Given the description of an element on the screen output the (x, y) to click on. 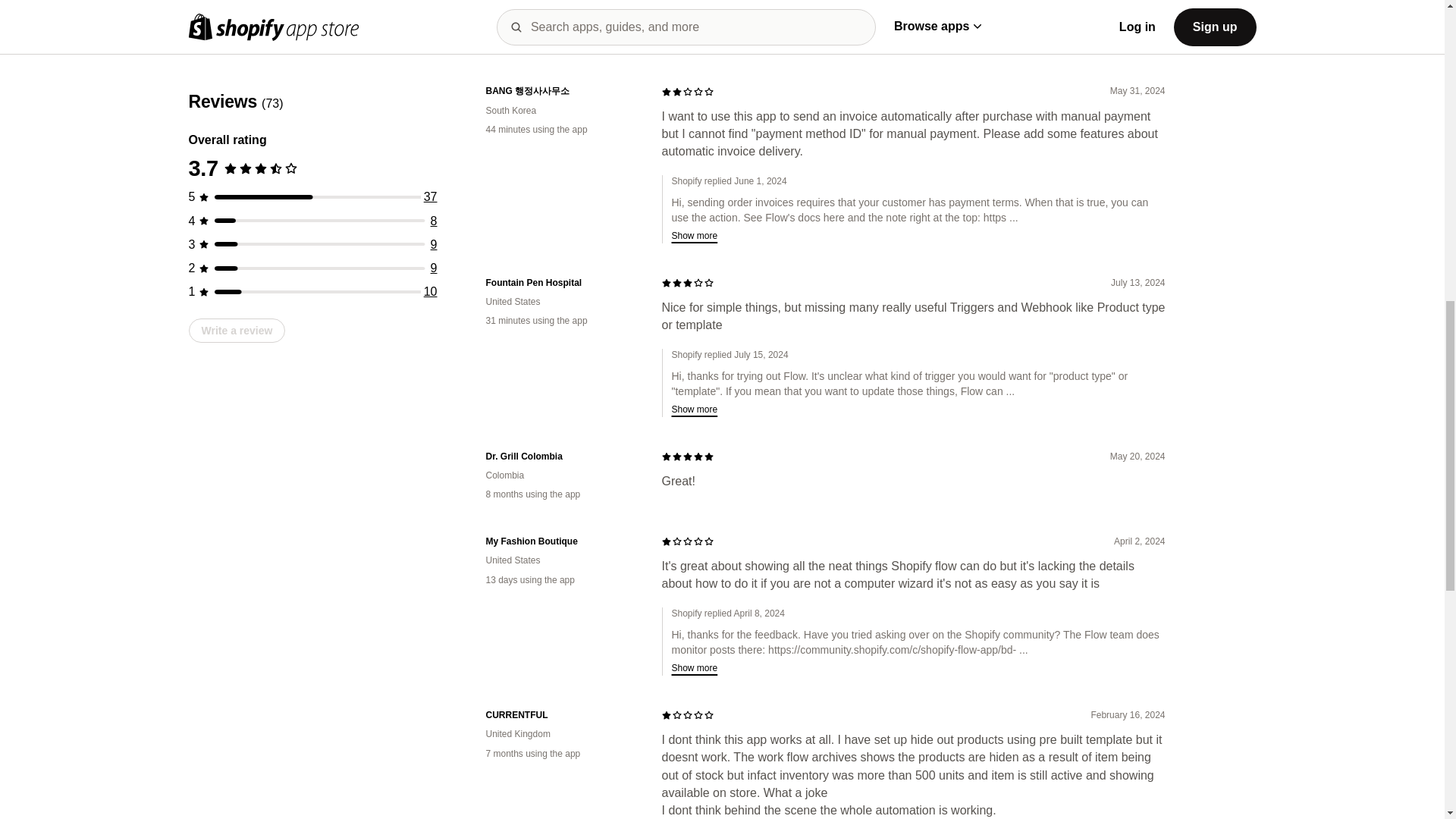
CURRENTFUL (560, 715)
Fountain Pen Hospital (560, 282)
My Fashion Boutique (560, 541)
Dr. Grill Colombia (560, 456)
